Given the description of an element on the screen output the (x, y) to click on. 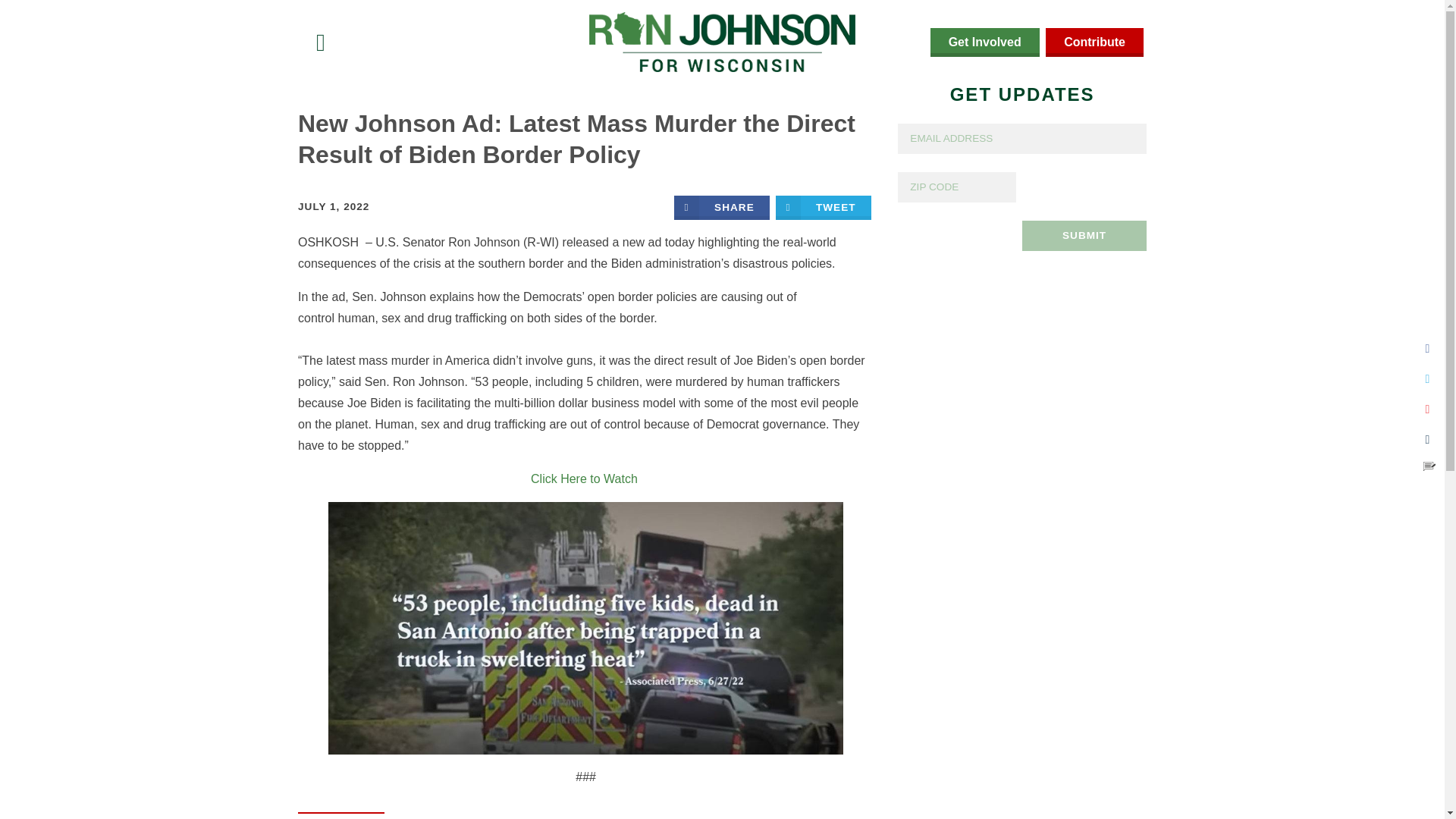
Contribute (1093, 41)
Click Here to Watch  (585, 478)
Share on Facebook (722, 207)
TWEET (823, 207)
Get Involved (984, 41)
SUBMIT (1084, 235)
SHARE (722, 207)
Tweet on Twitter (823, 207)
